Given the description of an element on the screen output the (x, y) to click on. 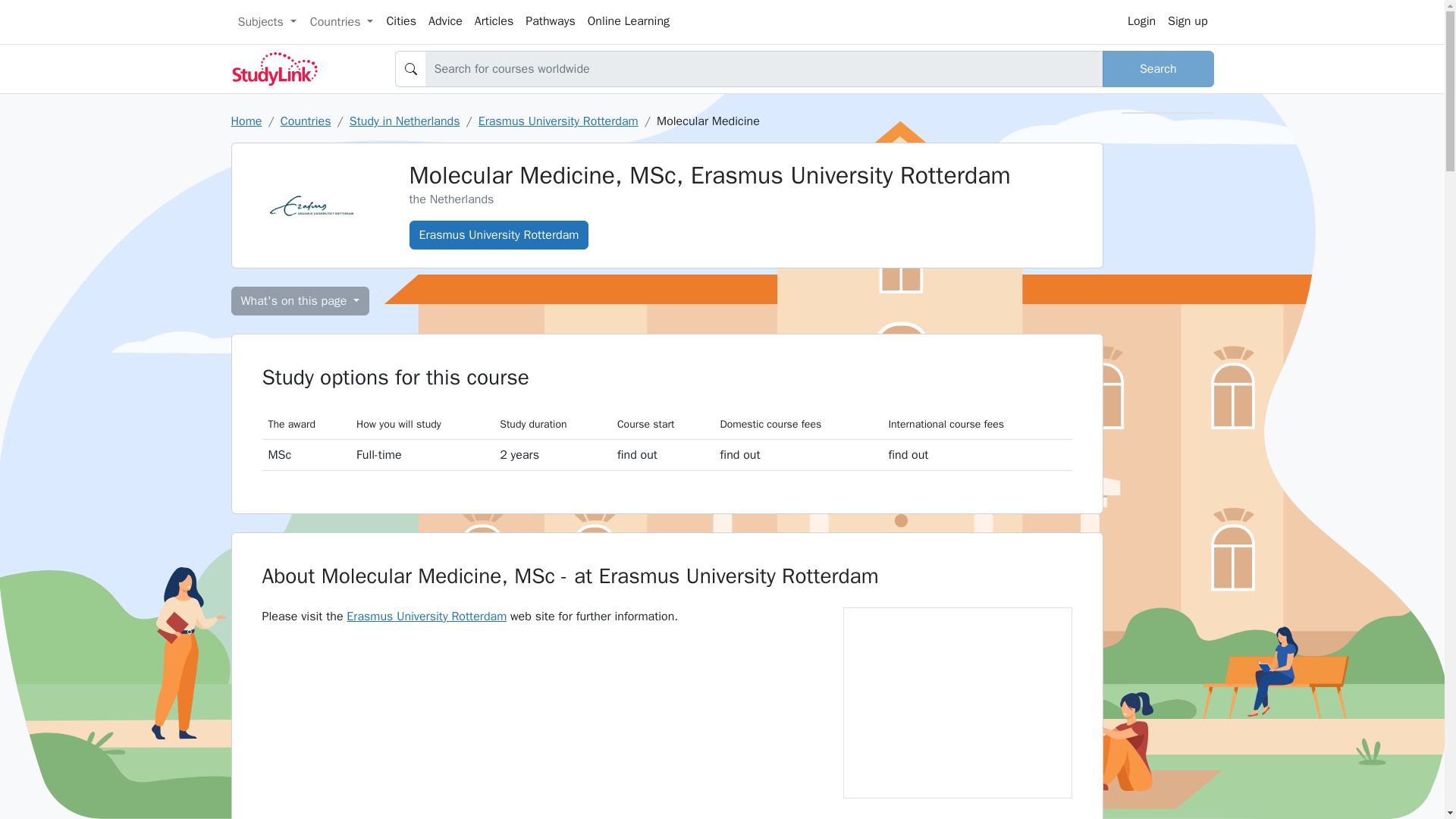
Subjects (266, 21)
Visit the provider website to learn more (662, 454)
Visit the provider website to learn more (976, 454)
Erasmus University Rotterdam (426, 616)
Visit the provider website to learn more (798, 454)
Countries (341, 21)
